Given the description of an element on the screen output the (x, y) to click on. 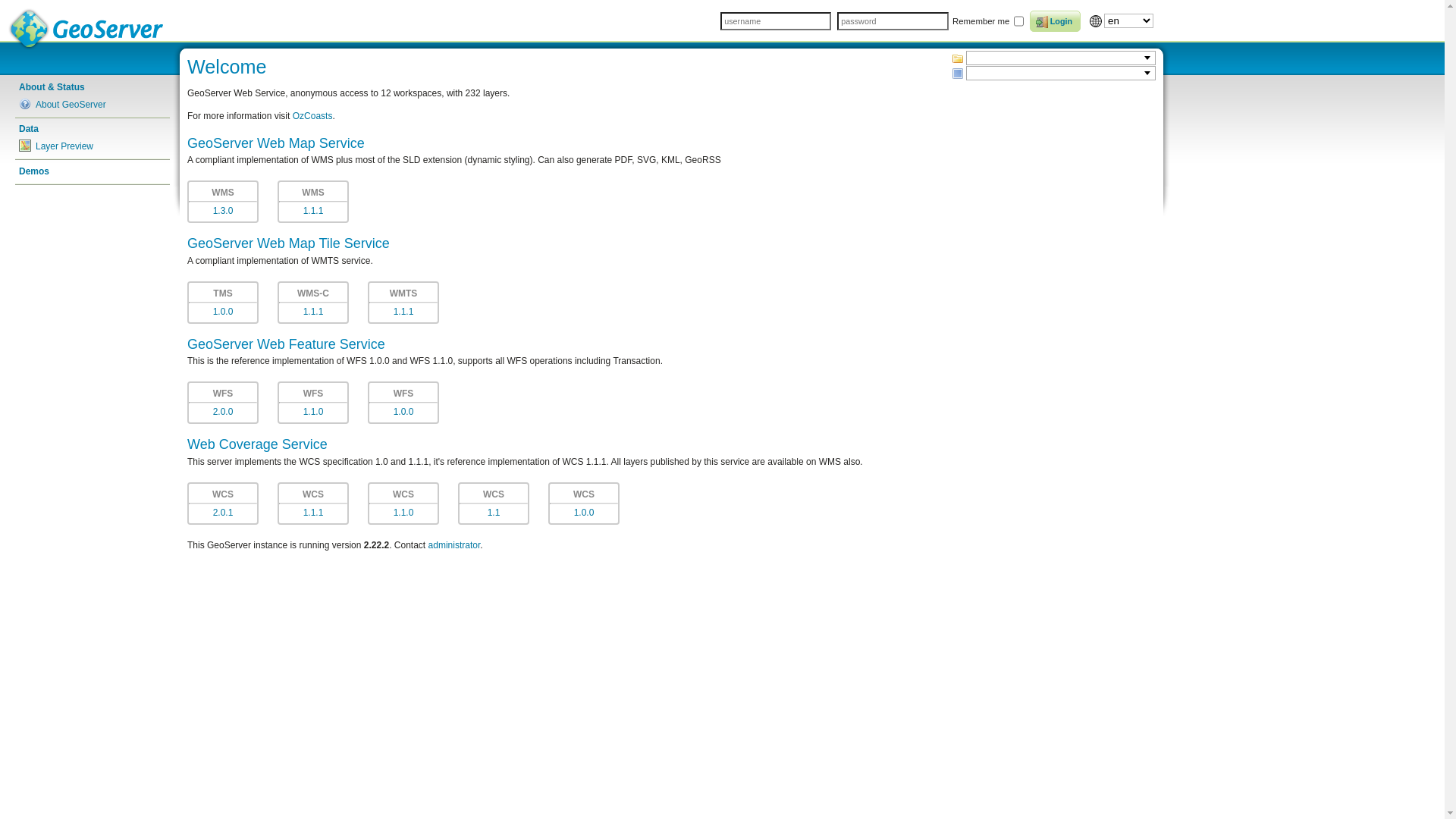
WCS
1.1.0 Element type: text (403, 503)
WMS
1.3.0 Element type: text (222, 201)
WCS
1.0.0 Element type: text (583, 503)
WMS
1.1.1 Element type: text (312, 201)
WFS
1.0.0 Element type: text (403, 402)
WFS
2.0.0 Element type: text (222, 402)
WFS
1.1.0 Element type: text (312, 402)
WMTS
1.1.1 Element type: text (403, 302)
Layer Element type: hover (957, 73)
About GeoServer Element type: text (92, 104)
password Element type: hover (892, 21)
administrator Element type: text (454, 544)
OzCoasts Element type: text (312, 115)
WMS-C
1.1.1 Element type: text (312, 302)
Workspace Element type: hover (957, 58)
Layer Preview Element type: text (92, 146)
username Element type: hover (775, 21)
WCS
1.1.1 Element type: text (312, 503)
Demos Element type: text (92, 171)
WCS
2.0.1 Element type: text (222, 503)
TMS
1.0.0 Element type: text (222, 302)
Login Element type: text (1055, 20)
WCS
1.1 Element type: text (493, 503)
